Given the description of an element on the screen output the (x, y) to click on. 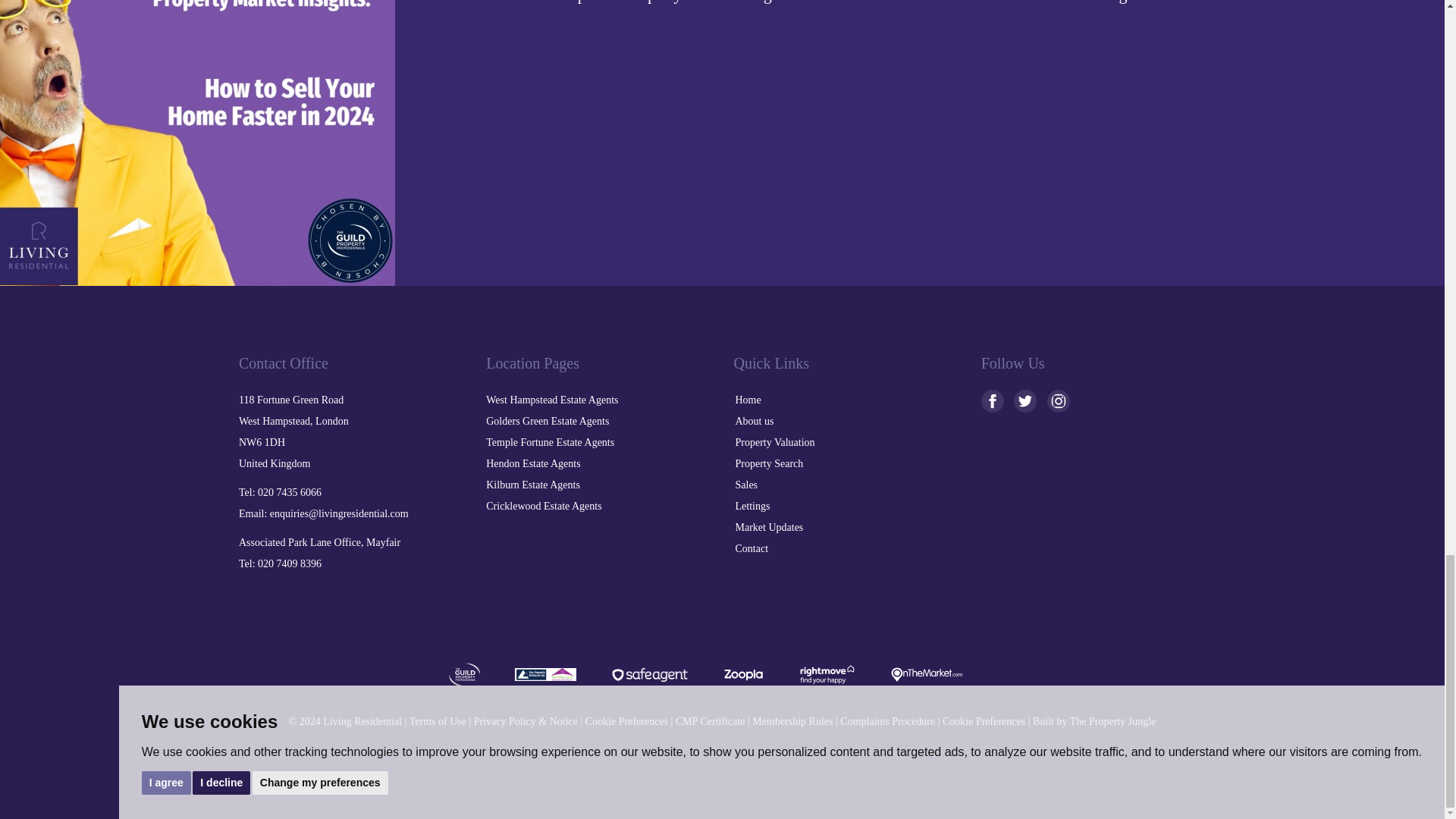
Terms of Use (437, 721)
Privacy Policy (526, 721)
